Given the description of an element on the screen output the (x, y) to click on. 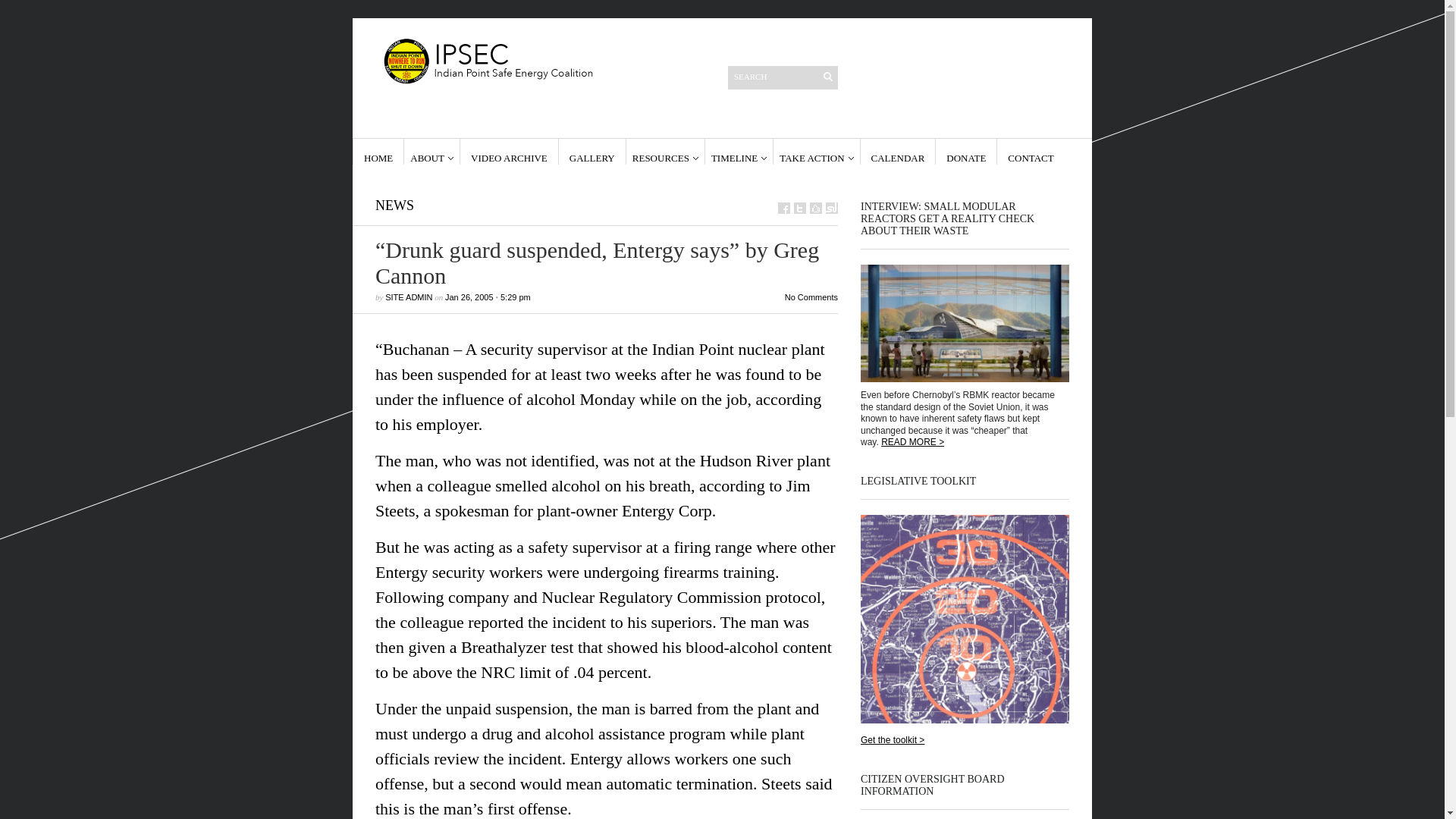
Bookmark on Del.icio.us (815, 207)
Share on Facebook (783, 207)
Search (773, 76)
Share on StumbleUpon (831, 207)
Spread the word on Twitter (799, 207)
Posts by Site Admin (408, 297)
